Given the description of an element on the screen output the (x, y) to click on. 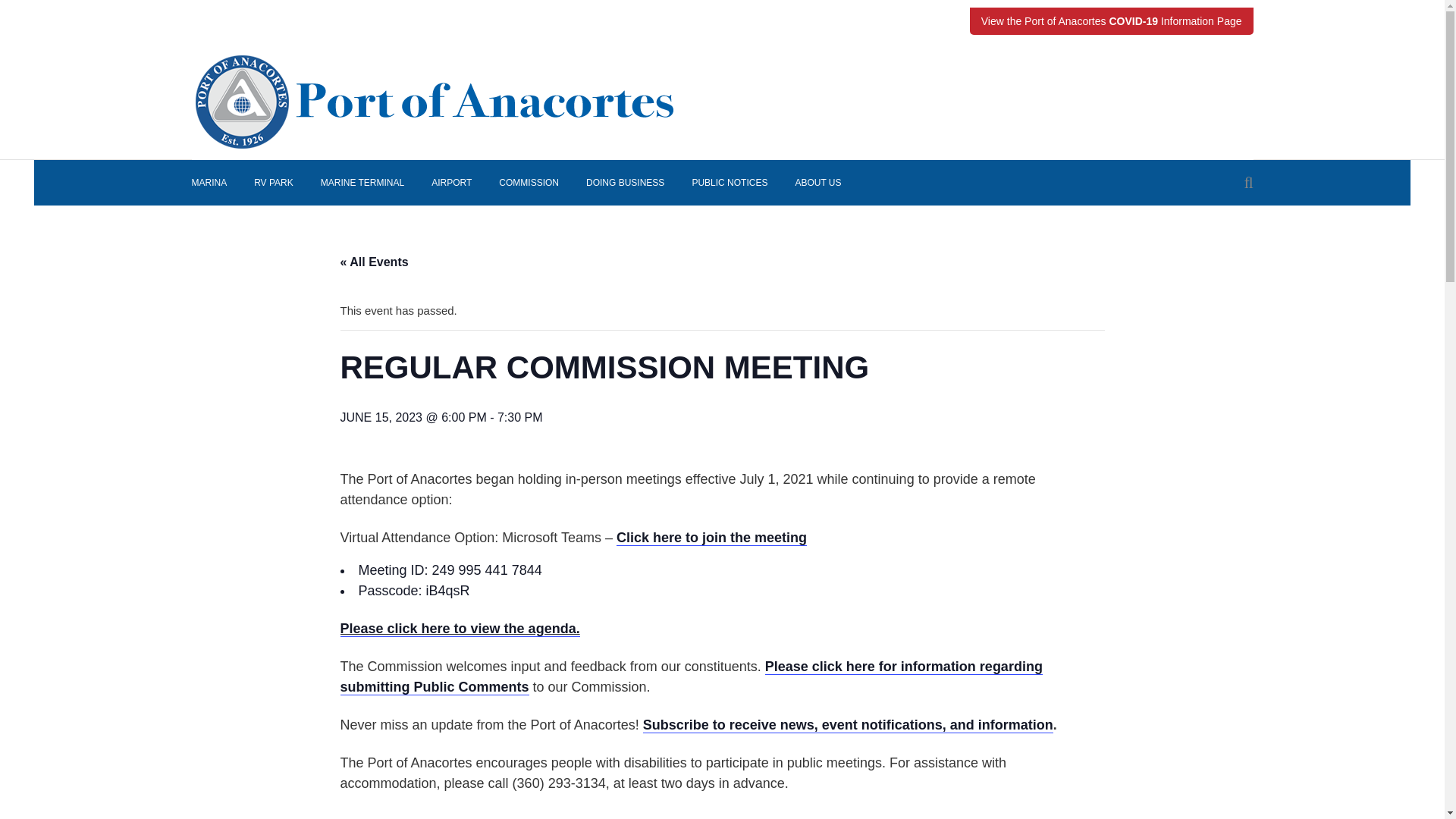
AIRPORT (450, 182)
MARINA (215, 182)
View the Port of Anacortes COVID-19 Information Page (1111, 21)
MARINE TERMINAL (362, 182)
RV PARK (273, 182)
